Given the description of an element on the screen output the (x, y) to click on. 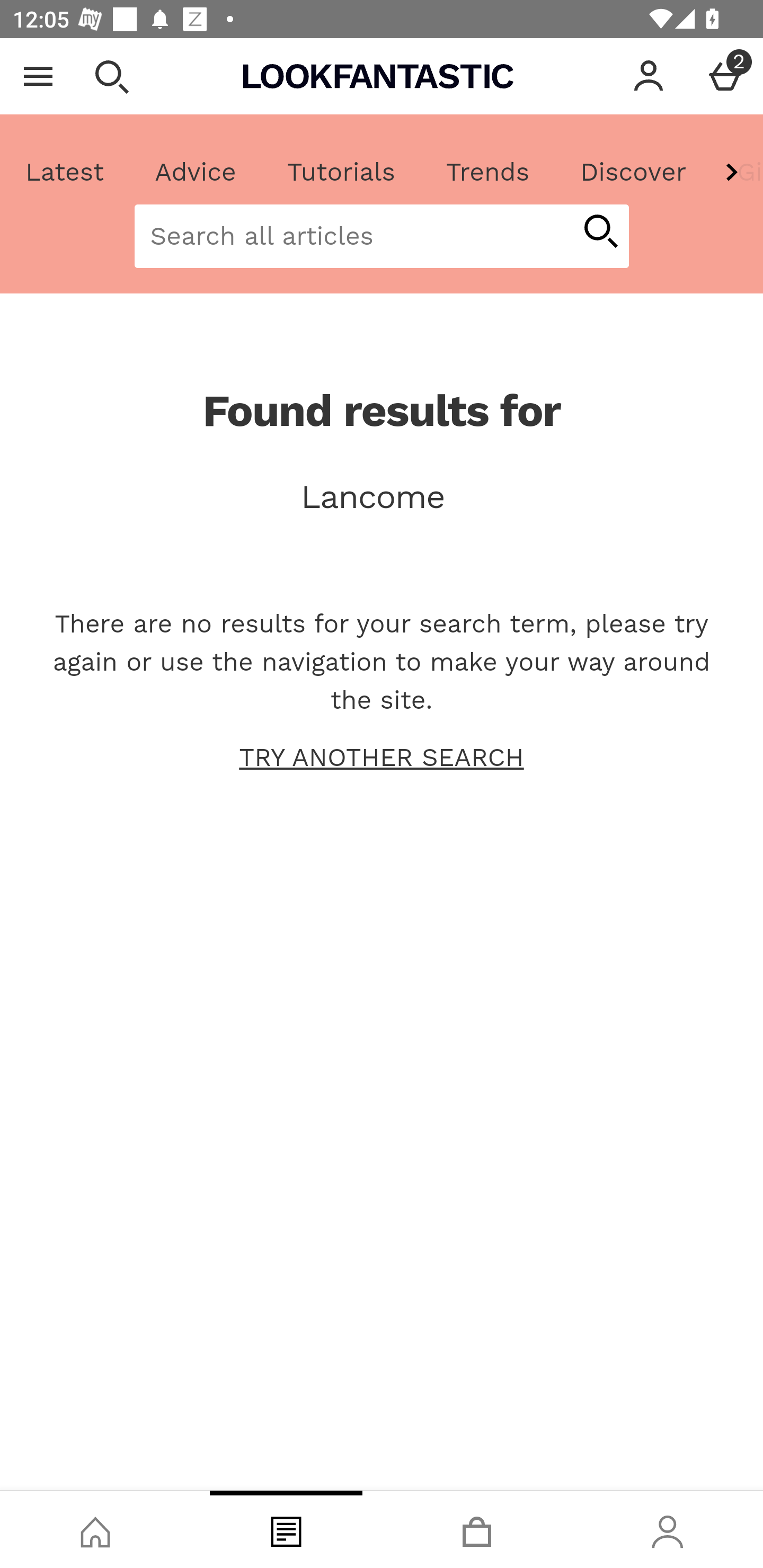
Open Menu (38, 75)
Open search (111, 75)
Account (648, 75)
Basket Menu (724, 75)
Lookfantastic USA Home page (378, 76)
Latest (65, 172)
Advice (195, 172)
Tutorials (340, 172)
Trends (486, 172)
Discover (632, 172)
Gift Guide (736, 172)
start article search (599, 232)
Lancome (381, 496)
TRY ANOTHER SEARCH (381, 757)
Shop, tab, 1 of 4 (95, 1529)
Blog, tab, 2 of 4 (285, 1529)
Basket, tab, 3 of 4 (476, 1529)
Account, tab, 4 of 4 (667, 1529)
